Given the description of an element on the screen output the (x, y) to click on. 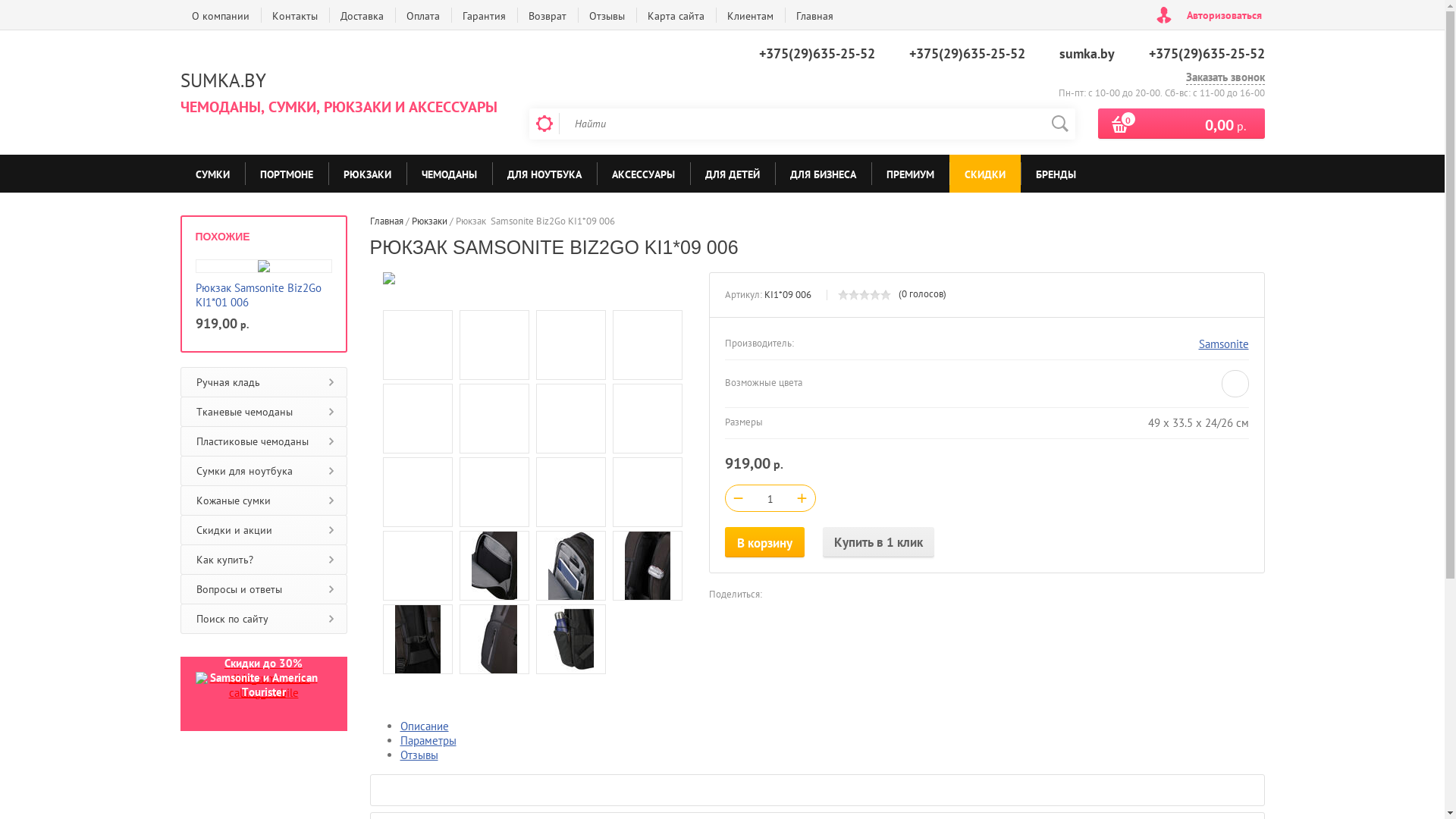
SUMKA.BY Element type: text (223, 80)
+375(29)635-25-52 Element type: text (966, 53)
Samsonite Element type: text (1223, 343)
+375(29)635-25-52 Element type: text (816, 53)
+ Element type: text (801, 497)
sumka.by Element type: text (1085, 53)
+375(29)635-25-52 Element type: text (1206, 53)
